Given the description of an element on the screen output the (x, y) to click on. 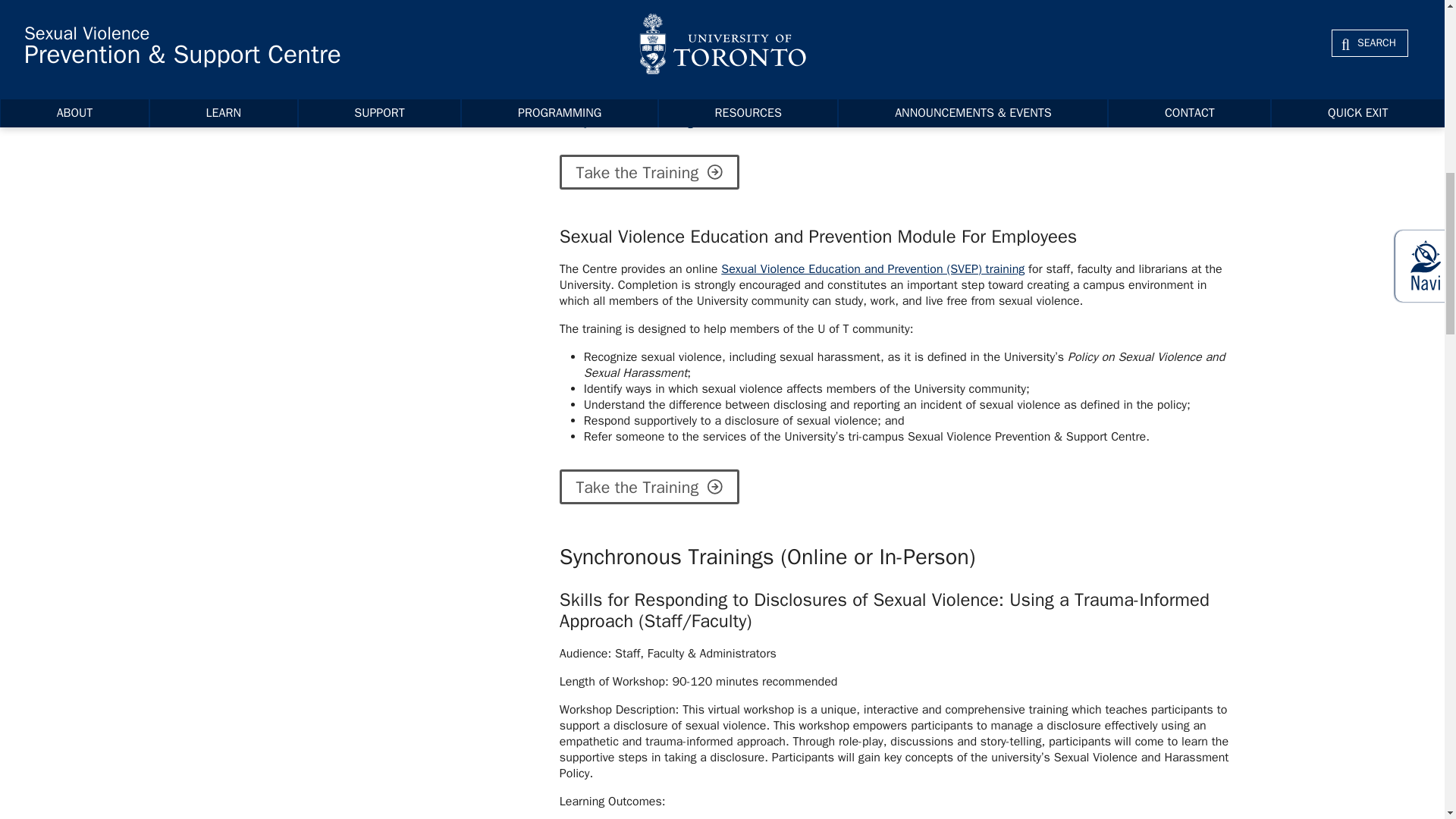
Take the Training (649, 486)
F.A.Q. for Students Living in Residence (662, 121)
Take the Training (649, 171)
